Given the description of an element on the screen output the (x, y) to click on. 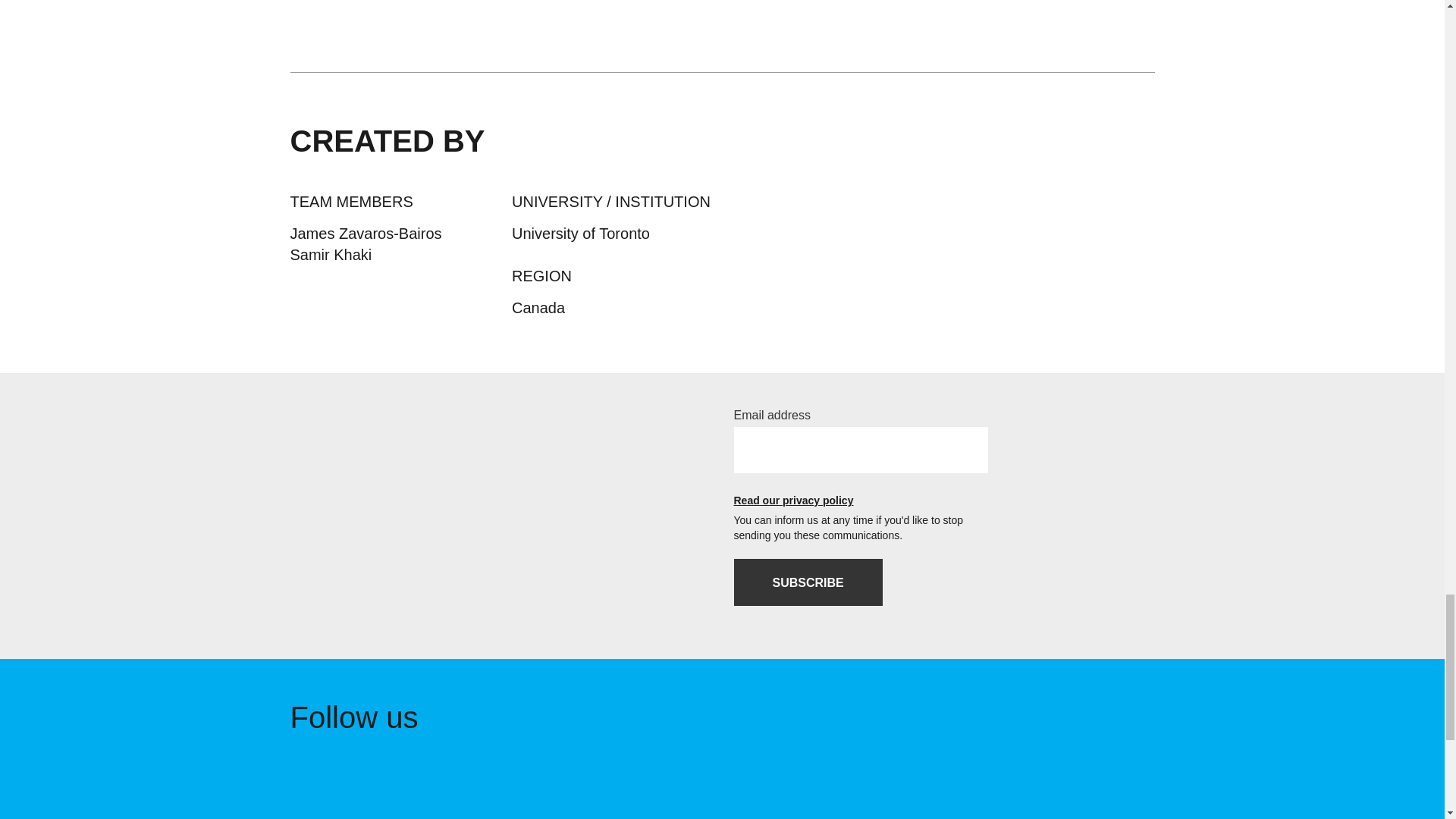
SUBSCRIBE (807, 582)
Read our privacy policy (860, 500)
